Given the description of an element on the screen output the (x, y) to click on. 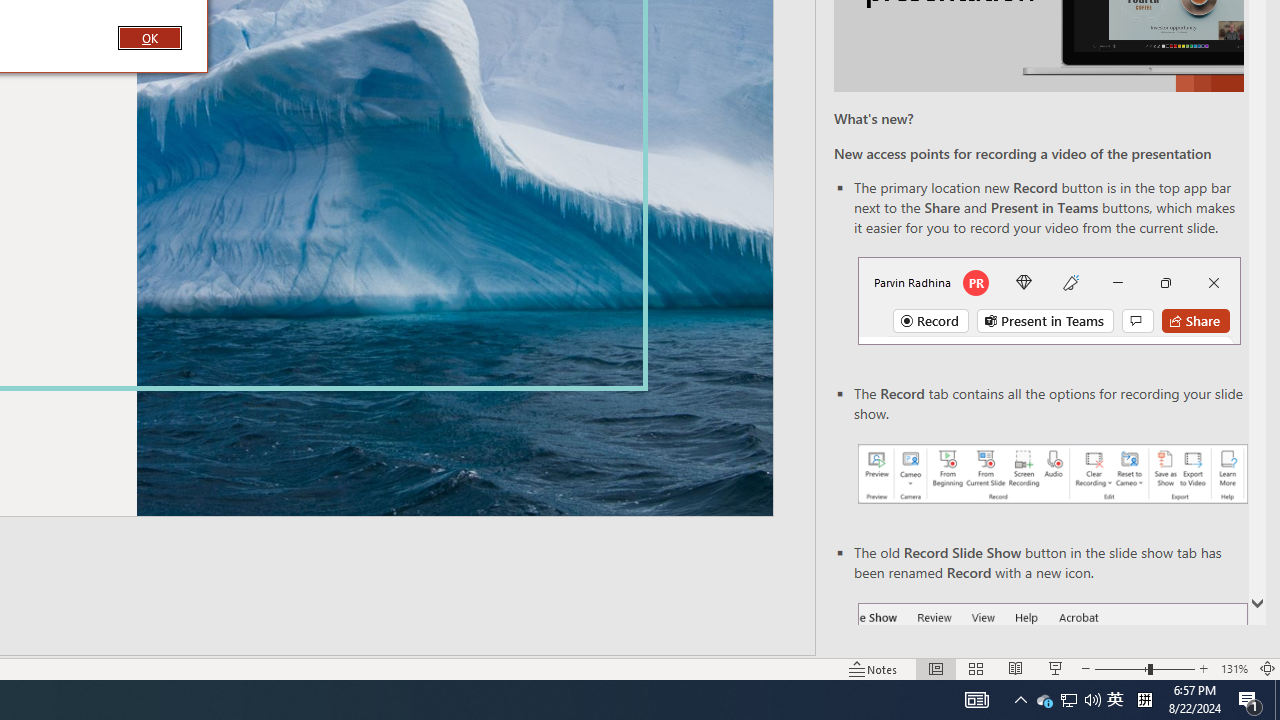
Tray Input Indicator - Chinese (Simplified, China) (1144, 699)
Record your presentations screenshot one (1052, 473)
User Promoted Notification Area (1069, 699)
Zoom Out (1068, 699)
Show desktop (1121, 668)
Notification Chevron (1277, 699)
Zoom to Fit  (1020, 699)
Record button in top bar (1267, 668)
